Given the description of an element on the screen output the (x, y) to click on. 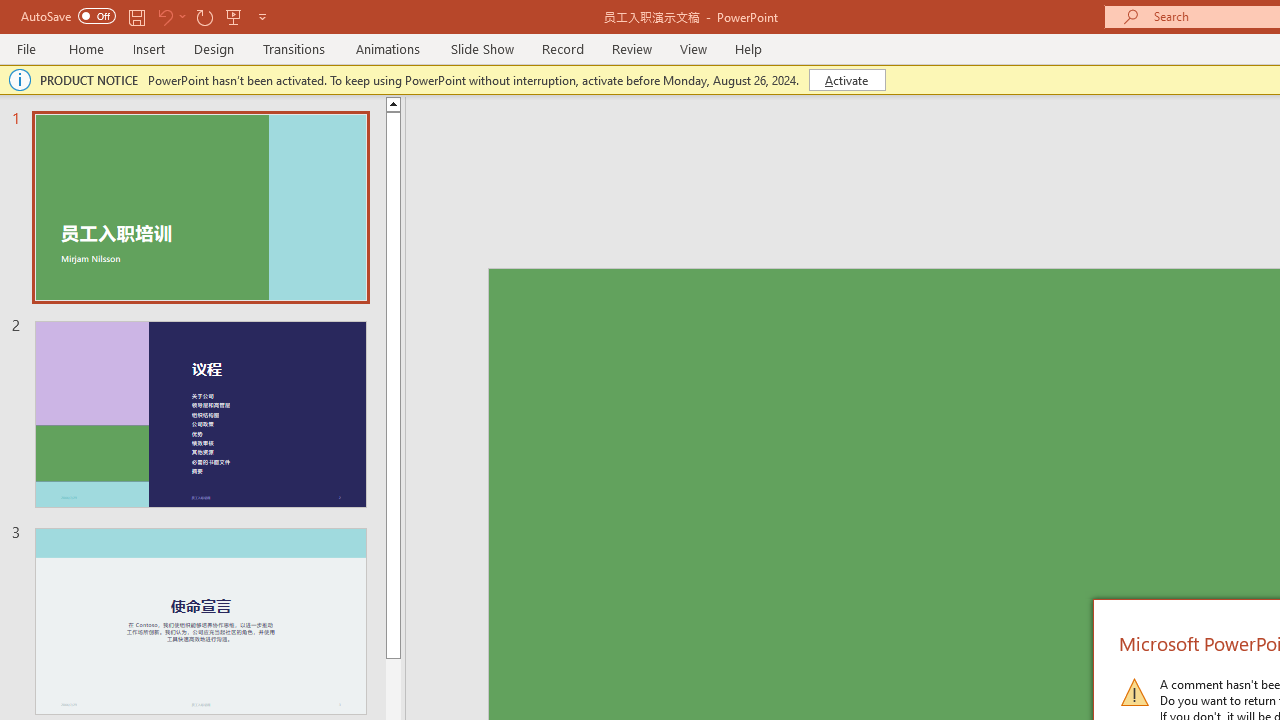
Activate (846, 79)
Warning Icon (1134, 691)
